Given the description of an element on the screen output the (x, y) to click on. 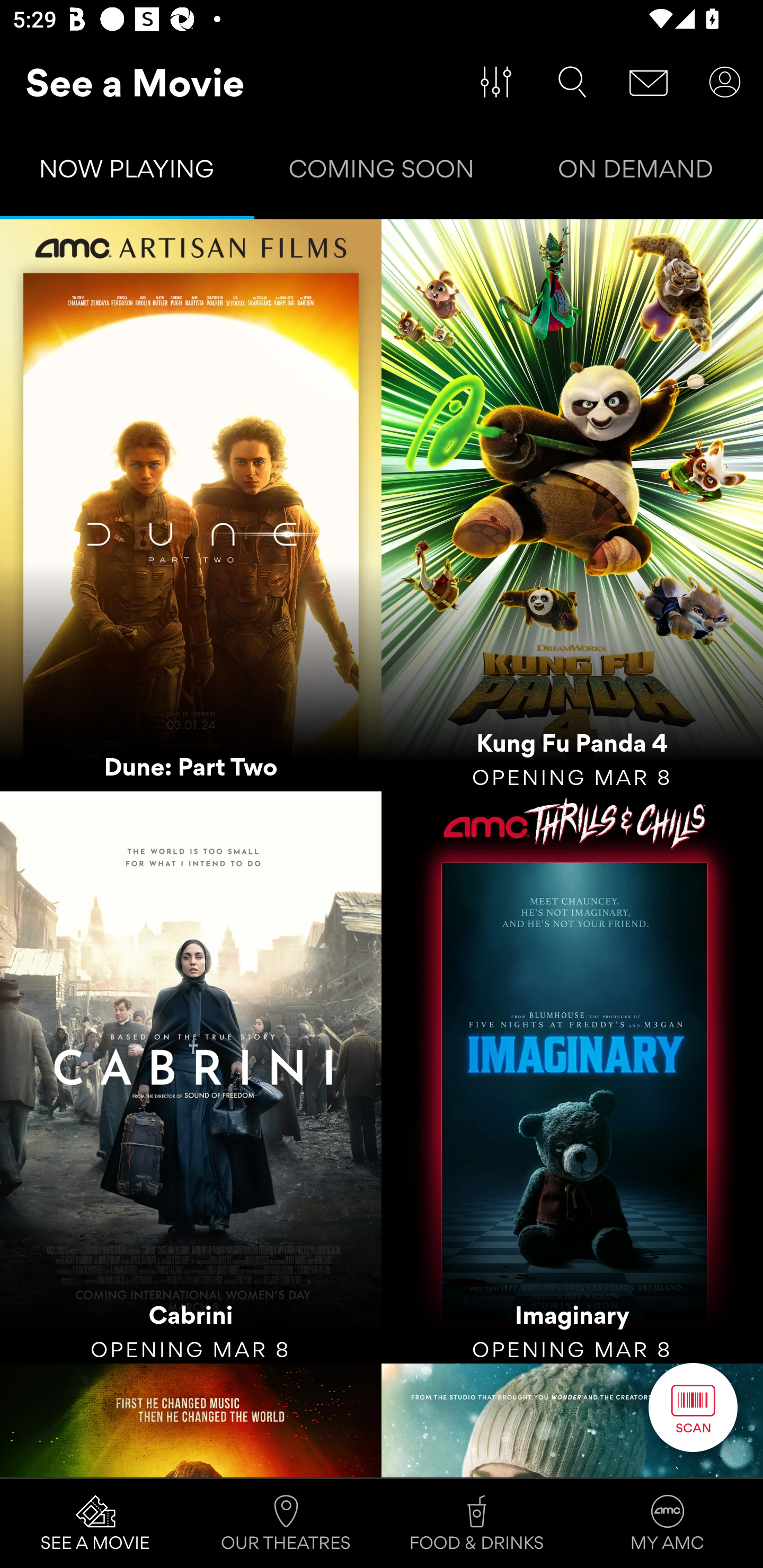
Filter Movies (495, 82)
Search (572, 82)
Message Center (648, 82)
User Account (724, 82)
NOW PLAYING
Tab 1 of 3 (127, 173)
COMING SOON
Tab 2 of 3 (381, 173)
ON DEMAND
Tab 3 of 3 (635, 173)
Dune: Part Two (190, 505)
Kung Fu Panda 4
OPENING MAR 8 (572, 505)
Cabrini
OPENING MAR 8 (190, 1077)
Imaginary
OPENING MAR 8 (572, 1077)
Scan Button (692, 1406)
SEE A MOVIE
Tab 1 of 4 (95, 1523)
OUR THEATRES
Tab 2 of 4 (285, 1523)
FOOD & DRINKS
Tab 3 of 4 (476, 1523)
MY AMC
Tab 4 of 4 (667, 1523)
